Given the description of an element on the screen output the (x, y) to click on. 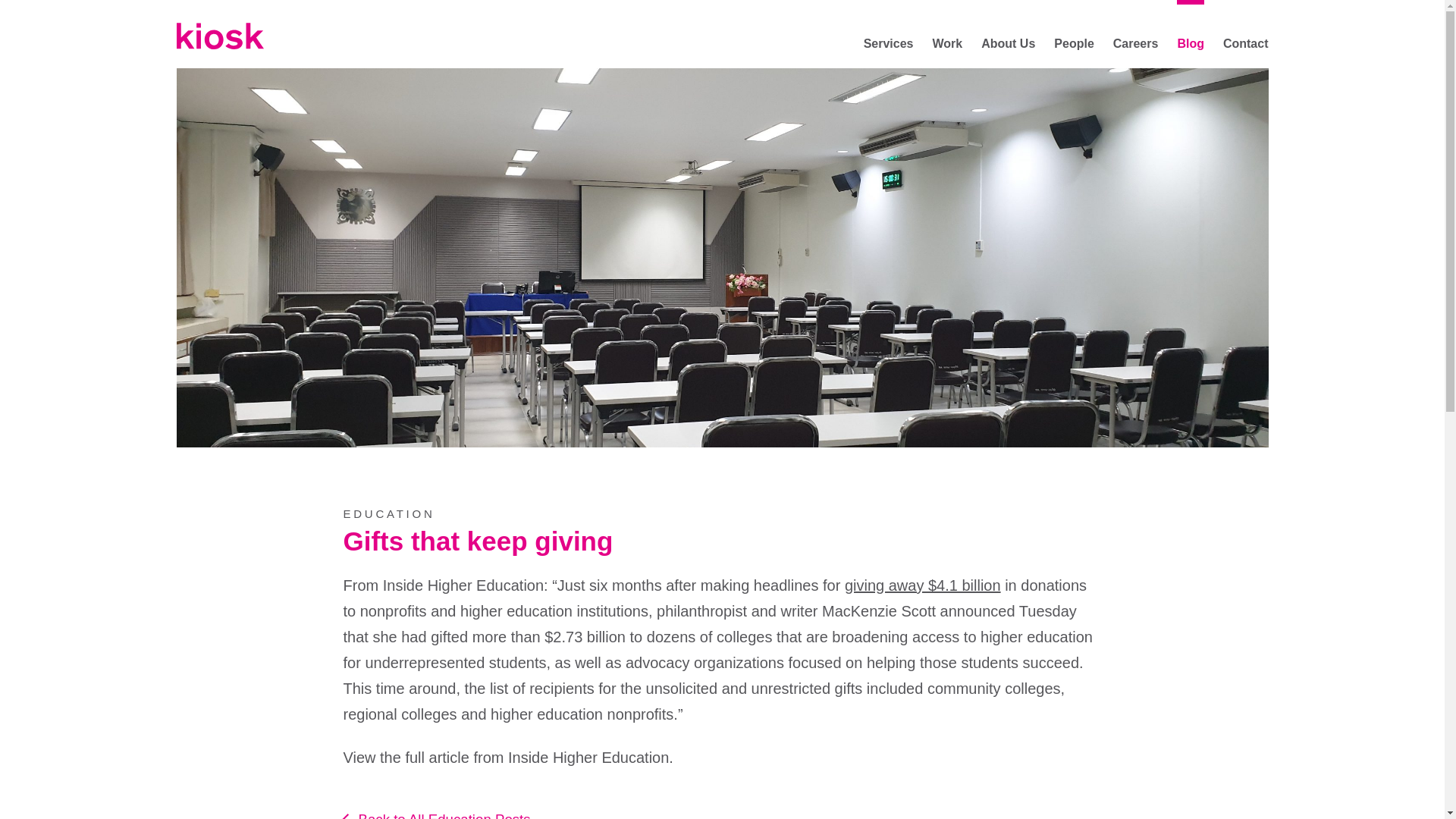
Home (219, 35)
Back to All Education Posts (443, 814)
Work (946, 42)
View the full article from Inside Higher Education. (507, 757)
Services (888, 42)
Skip to main content (185, 9)
Kiosk (219, 35)
EDUCATION (387, 513)
About Us (1008, 42)
